Given the description of an element on the screen output the (x, y) to click on. 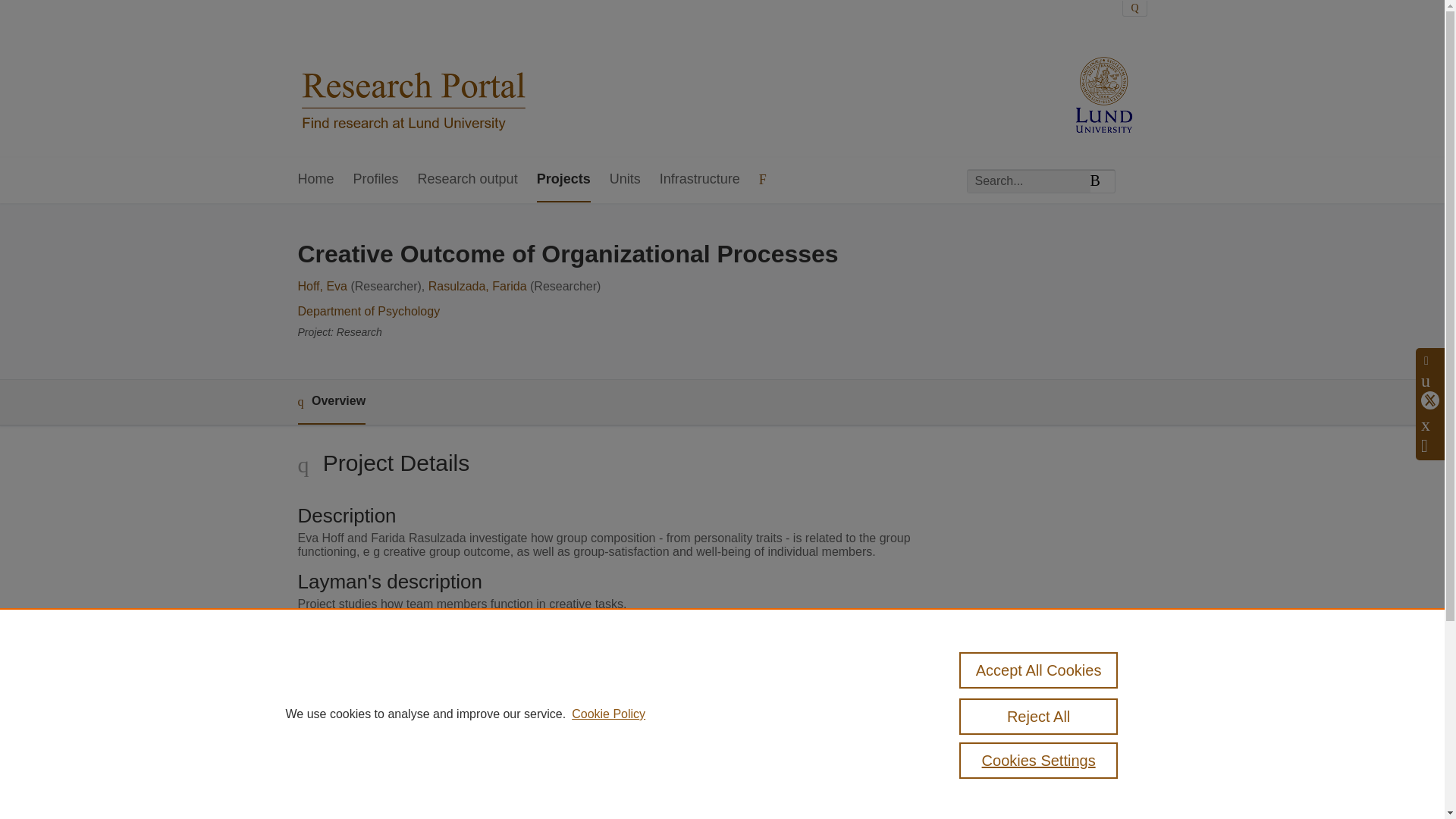
Lund University Home (412, 78)
Cookies Settings (1038, 760)
Department of Psychology (368, 310)
Profiles (375, 180)
Projects (564, 180)
Research output (467, 180)
Infrastructure (699, 180)
Hoff, Eva (322, 286)
Rasulzada, Farida (477, 286)
Overview (331, 402)
Cookie Policy (608, 713)
